Given the description of an element on the screen output the (x, y) to click on. 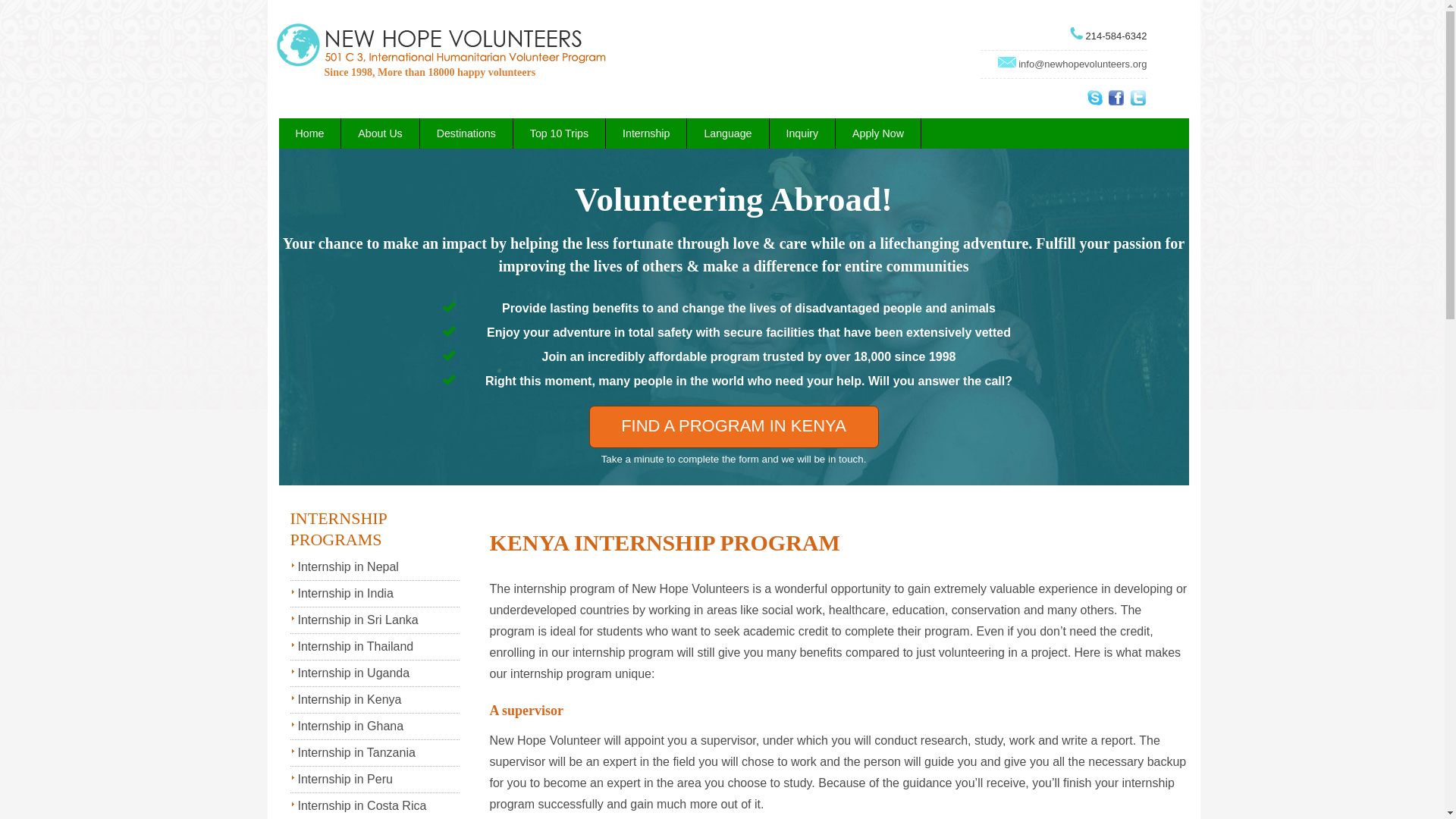
About Us (379, 132)
Top 10 Trips (558, 132)
Destinations (466, 132)
Home (309, 132)
